Given the description of an element on the screen output the (x, y) to click on. 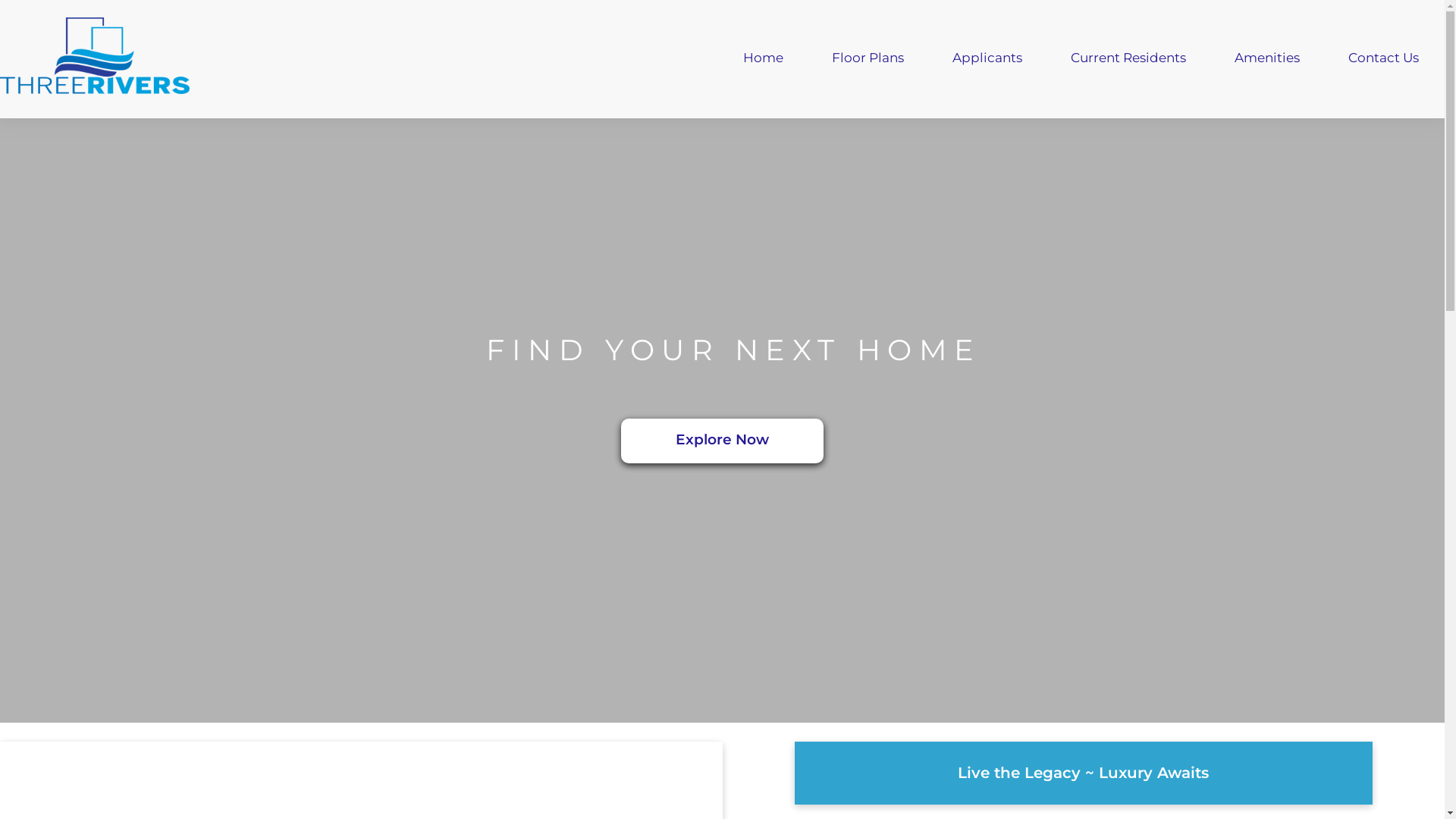
Floor Plans Element type: text (867, 58)
Home Element type: text (763, 58)
Current Residents Element type: text (1128, 58)
Contact Us Element type: text (1383, 58)
Three Rivers Luxury Apartments Element type: hover (94, 59)
Amenities Element type: text (1266, 58)
Applicants Element type: text (987, 58)
Explore Now Element type: text (722, 440)
